Given the description of an element on the screen output the (x, y) to click on. 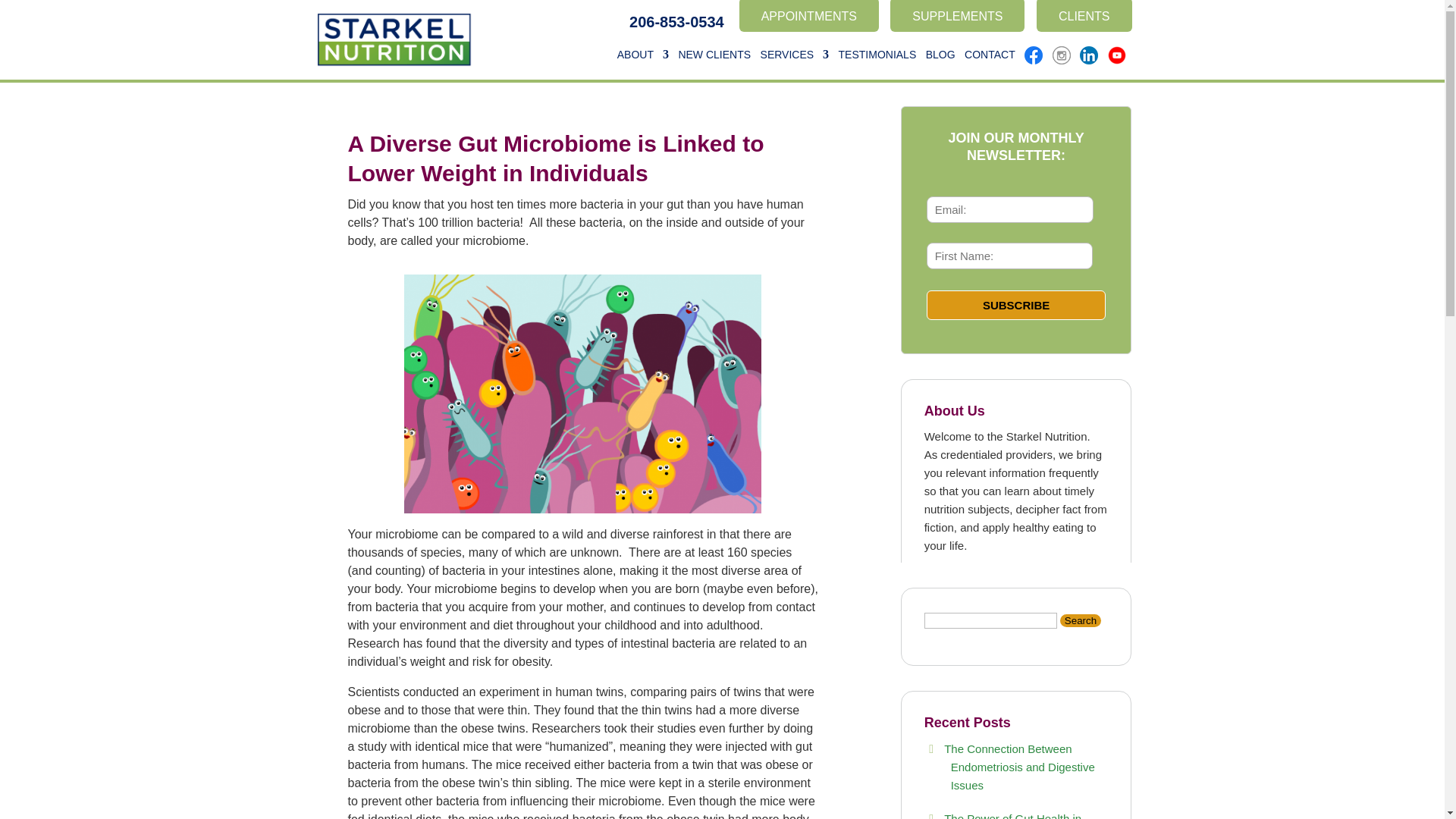
SERVICES (794, 62)
NEW CLIENTS (714, 62)
APPOINTMENTS (809, 15)
CLIENTS (1084, 15)
SUBSCRIBE (1016, 305)
Search (1079, 620)
SUPPLEMENTS (957, 15)
ABOUT (642, 62)
